Given the description of an element on the screen output the (x, y) to click on. 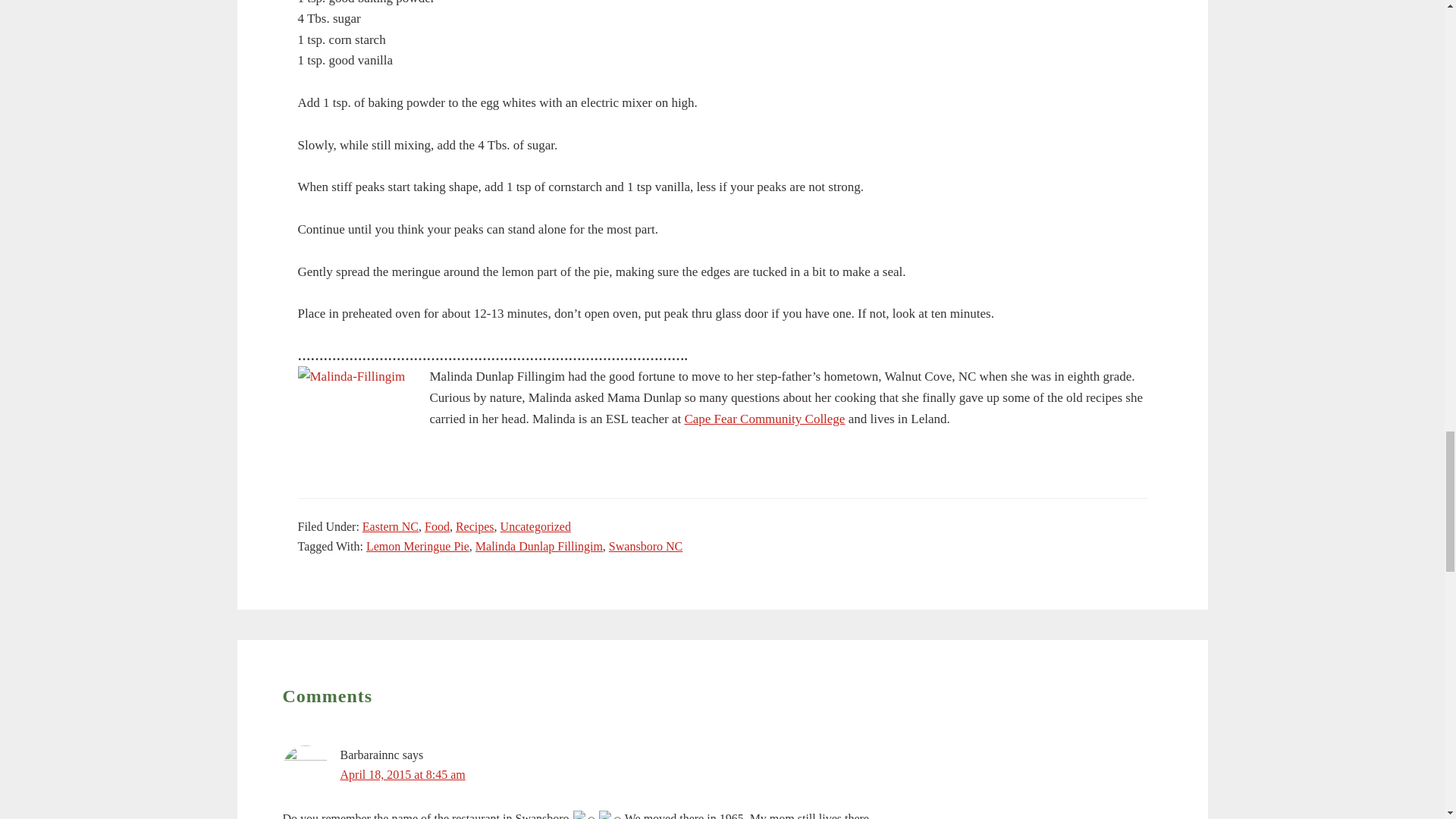
Cape Fear Community College (764, 418)
Uncategorized (535, 526)
Recipes (475, 526)
Food (437, 526)
Eastern NC (390, 526)
Cape Fear Community College (764, 418)
